Given the description of an element on the screen output the (x, y) to click on. 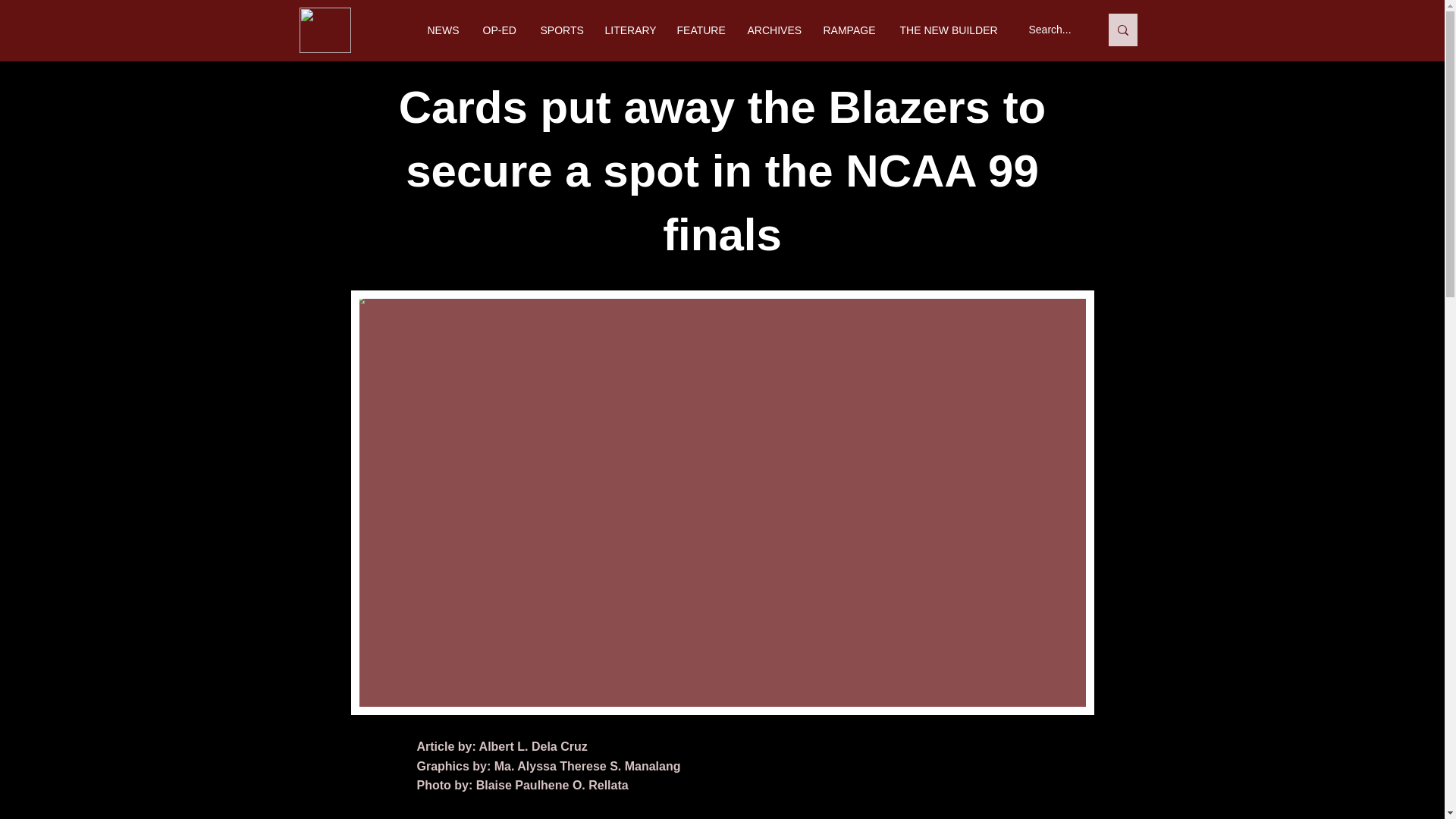
NEWS (442, 29)
OP-ED (500, 29)
ARCHIVES (772, 29)
SPORTS (561, 29)
FEATURE (700, 29)
LITERARY (628, 29)
THE NEW BUILDER (948, 29)
RAMPAGE (849, 29)
